Given the description of an element on the screen output the (x, y) to click on. 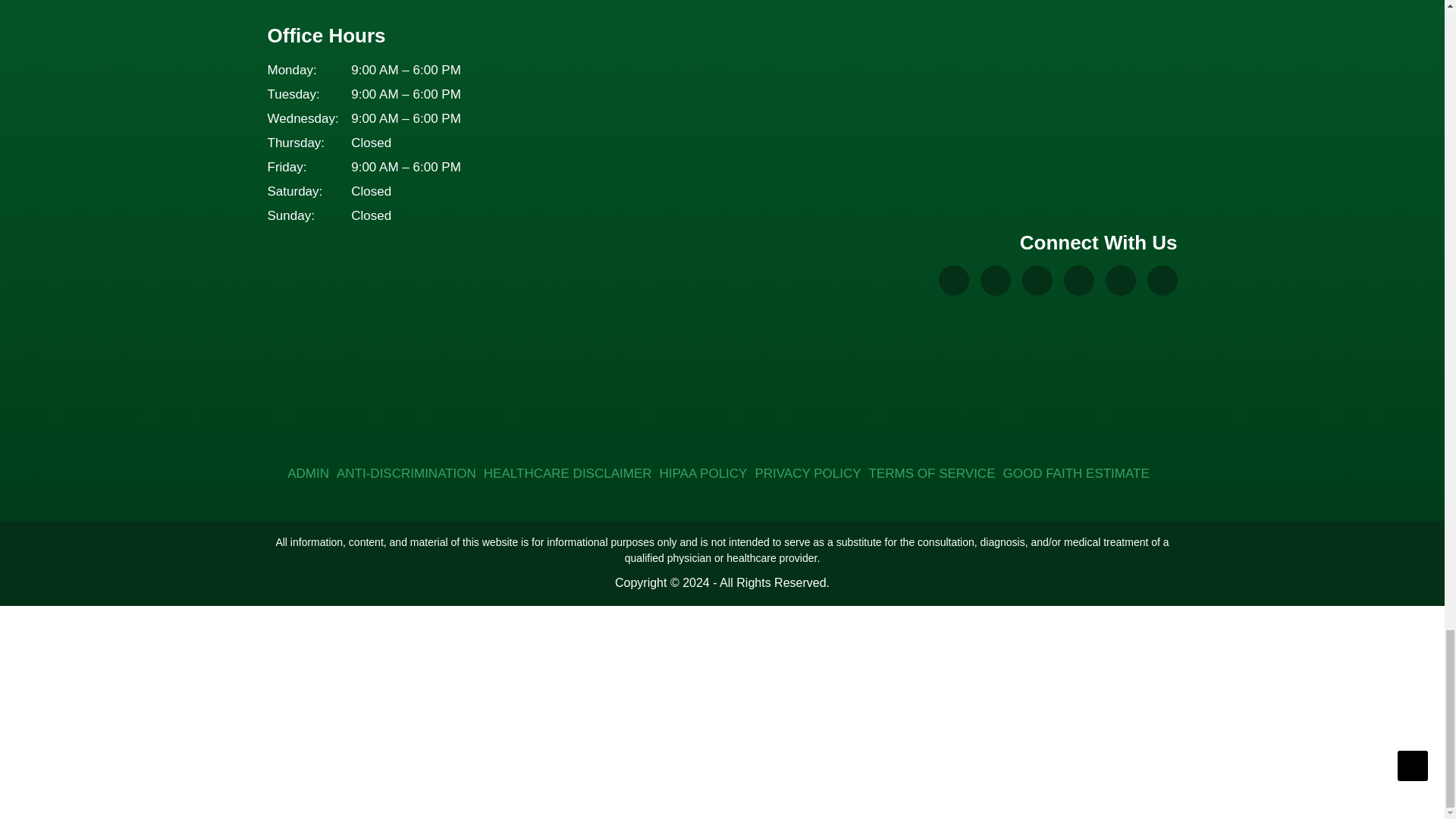
YouTube (1077, 280)
Linkedin (1161, 280)
Facebook (994, 280)
Google My Business (954, 280)
Twitter (1120, 280)
Medical Practice Marketing (1104, 405)
Instagram (1037, 280)
